Given the description of an element on the screen output the (x, y) to click on. 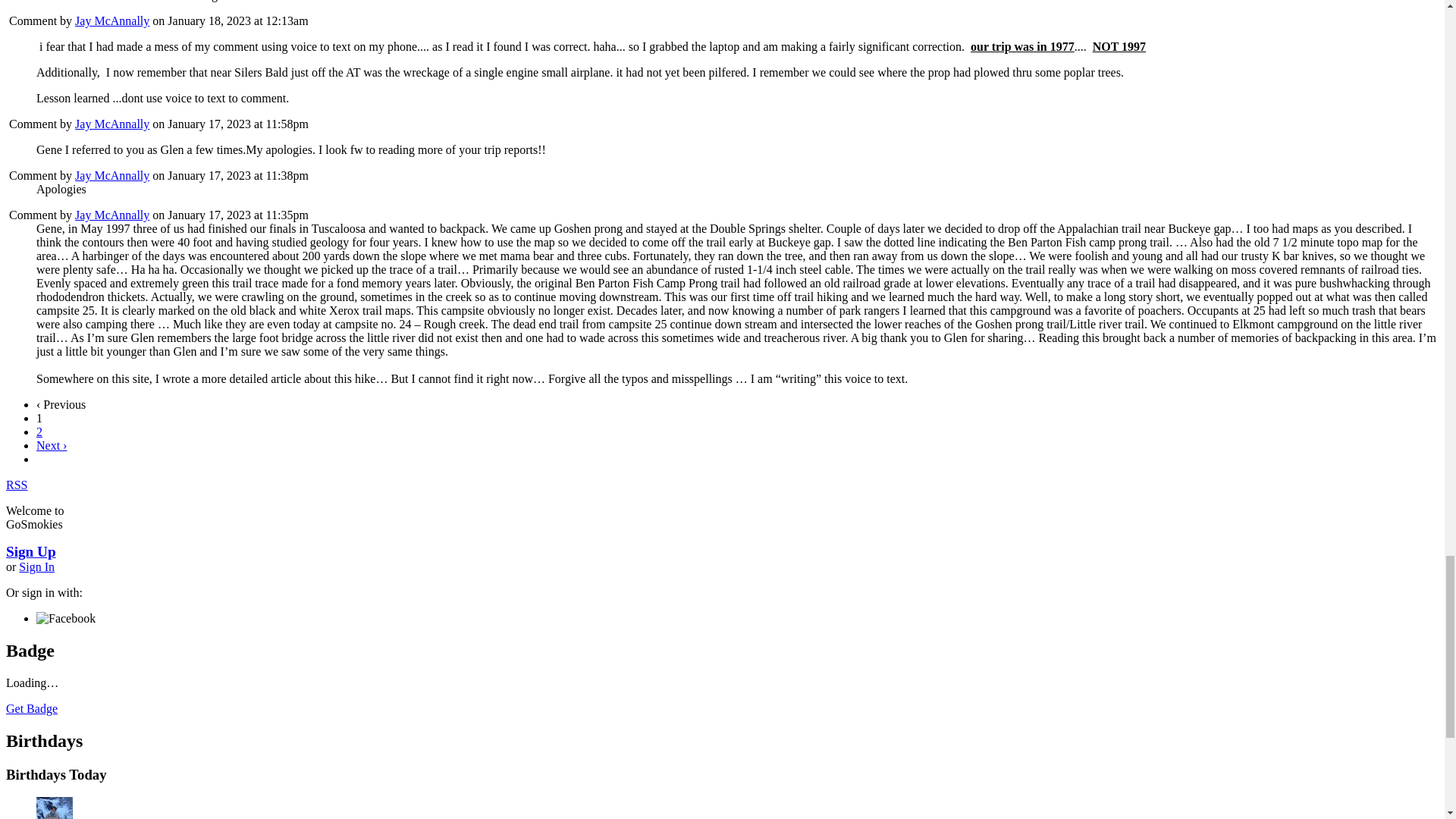
Facebook (66, 618)
